Given the description of an element on the screen output the (x, y) to click on. 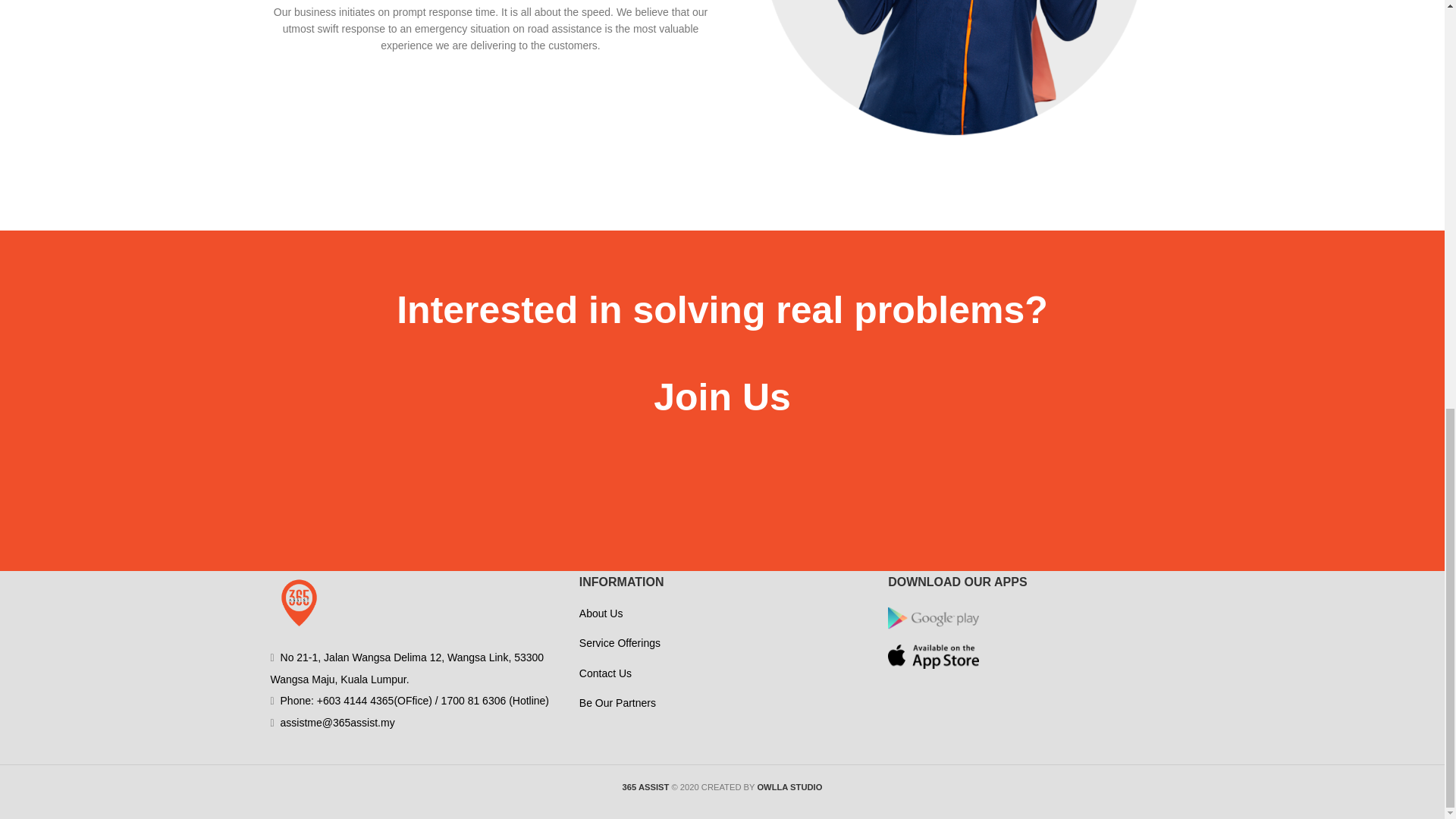
Contact Us (605, 673)
About Us (601, 613)
Be Our Partners (617, 702)
OWLLA STUDIO (789, 786)
365 ASSIST (646, 786)
esul33211 (953, 69)
Service Offerings (620, 643)
